Given the description of an element on the screen output the (x, y) to click on. 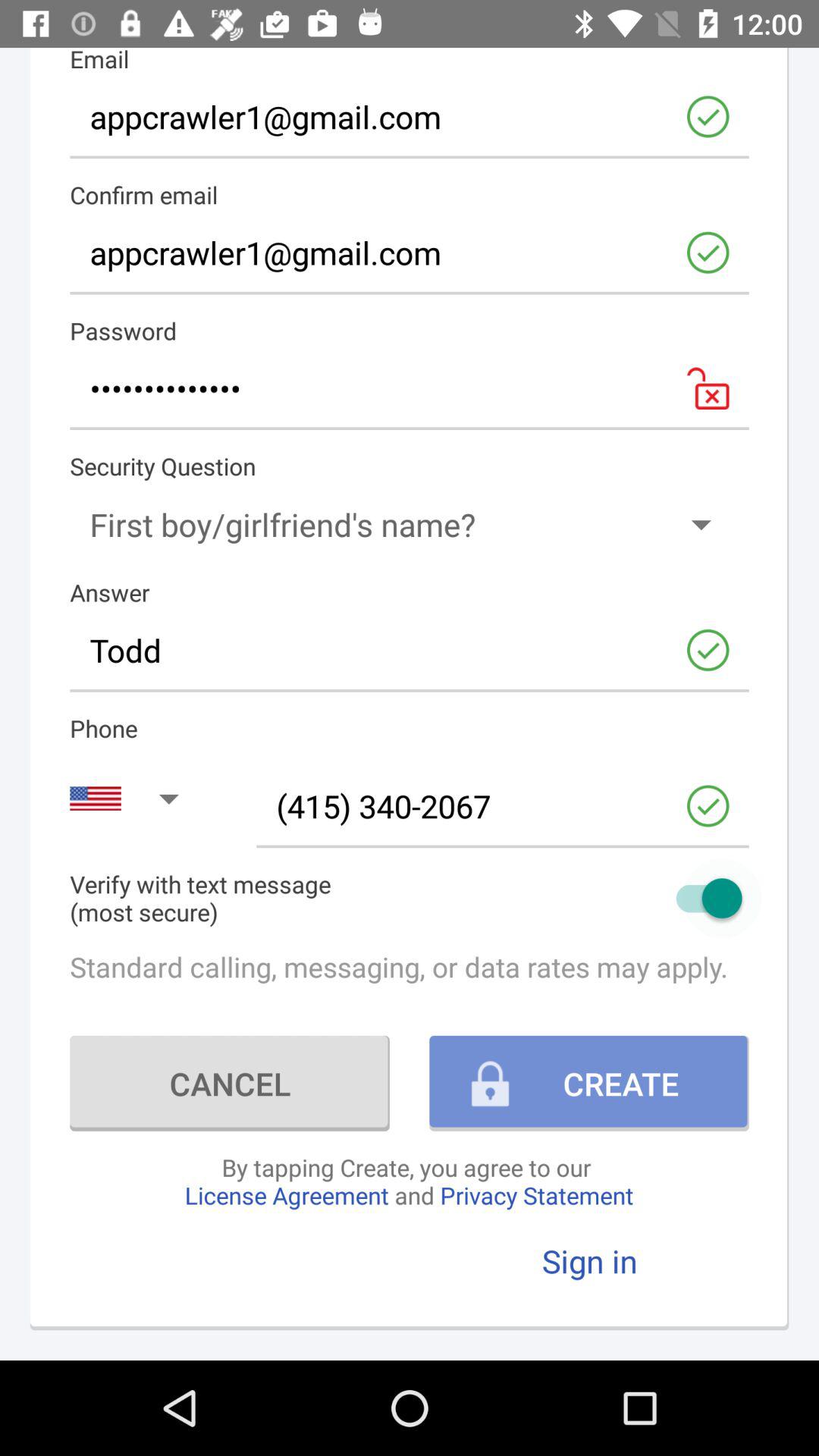
press the item above the verify with text icon (502, 806)
